Given the description of an element on the screen output the (x, y) to click on. 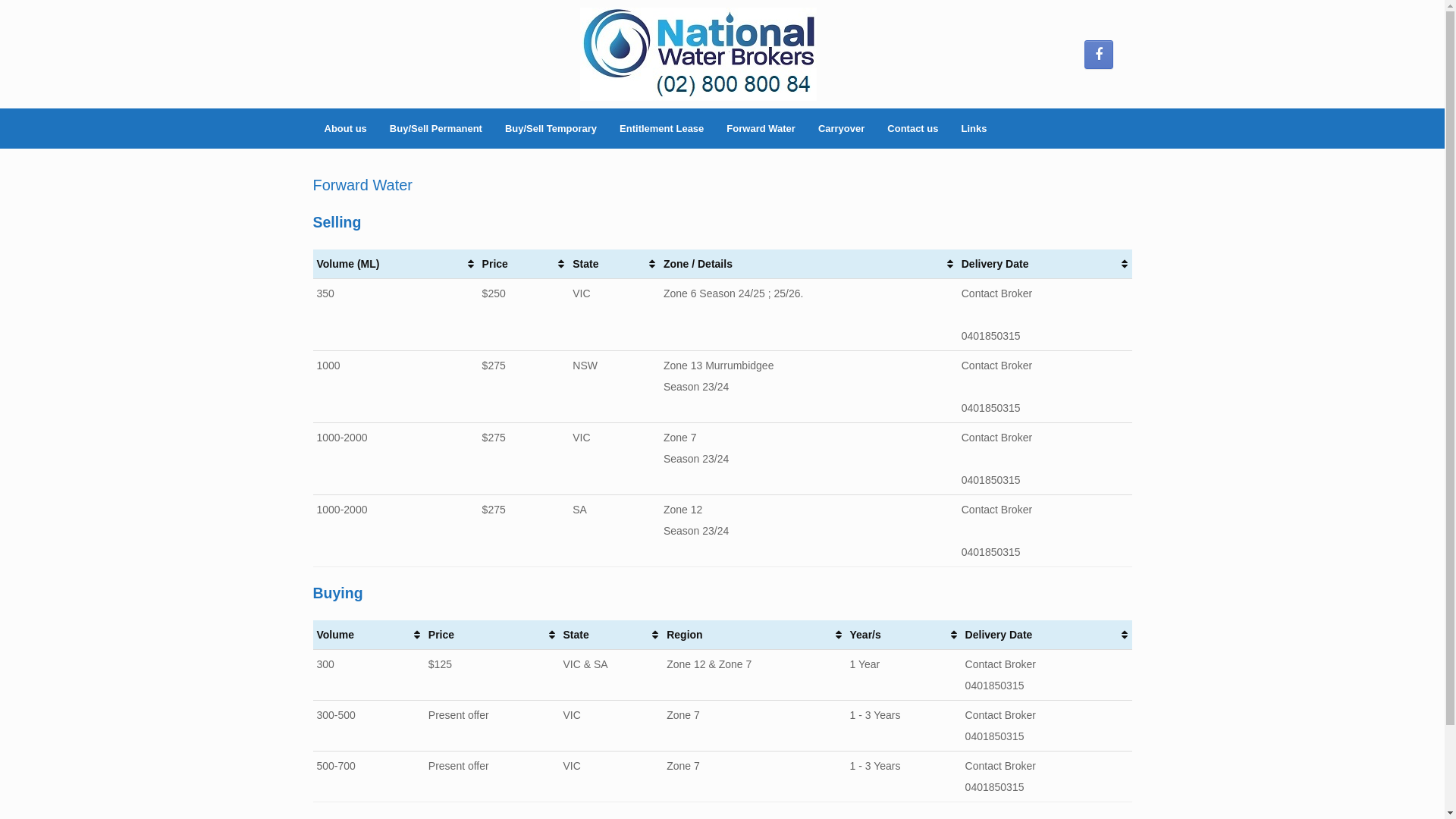
National Water Brokers Element type: hover (697, 53)
Contact us Element type: text (912, 128)
Buy/Sell Permanent Element type: text (435, 128)
About us Element type: text (344, 128)
Buy/Sell Temporary Element type: text (550, 128)
Entitlement Lease Element type: text (661, 128)
Carryover Element type: text (840, 128)
Links Element type: text (973, 128)
National Water Brokers Facebook Element type: hover (1098, 53)
Forward Water Element type: text (760, 128)
